Given the description of an element on the screen output the (x, y) to click on. 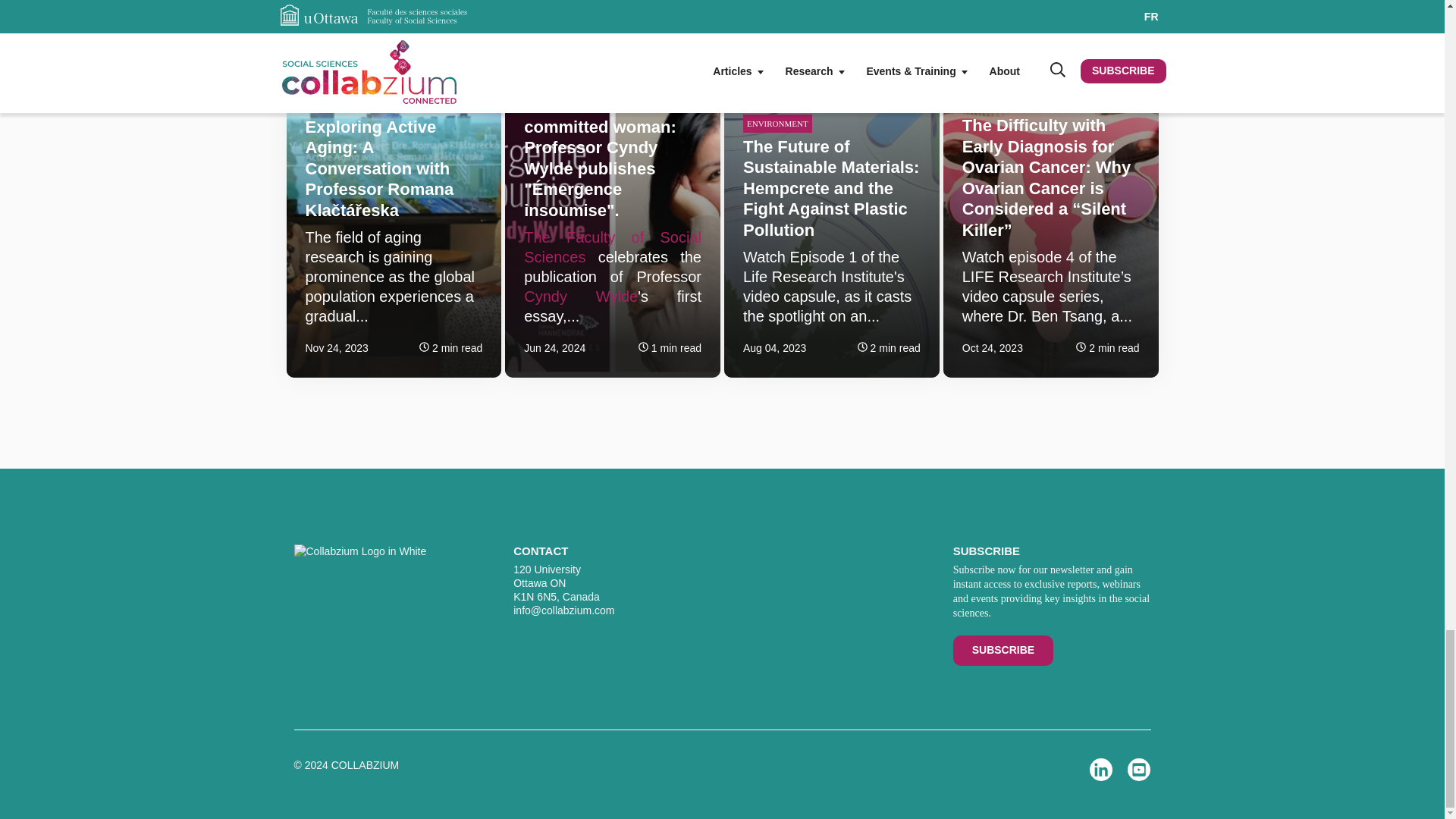
PSYCHOLOGY (336, 104)
Cyndy Wylde (580, 296)
SOCIAL WORK (556, 82)
get a demo (1002, 650)
The Faculty of Social Sciences (612, 247)
PSYCHOLOGY (994, 102)
ENVIRONMENT (777, 122)
